Given the description of an element on the screen output the (x, y) to click on. 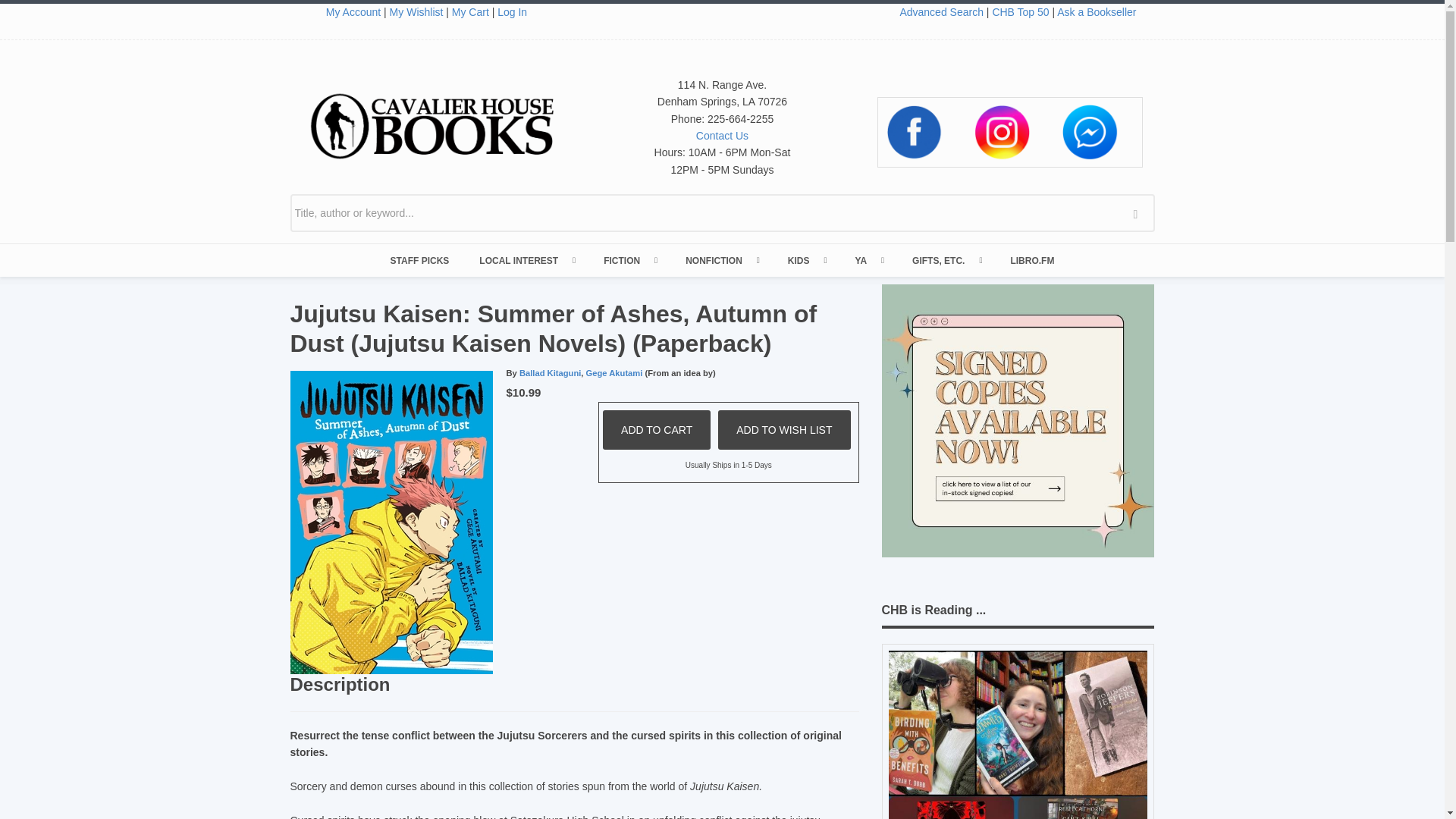
STAFF PICKS (419, 260)
Contact Us (721, 135)
LOCAL INTEREST (526, 260)
search (1139, 212)
YA (868, 260)
Add to Cart (656, 429)
CHB Top 50 (1019, 11)
Ask a Bookseller (1096, 11)
Log In (512, 11)
Advanced Search (941, 11)
FICTION (628, 260)
KIDS (806, 260)
My Account (353, 11)
Title, author or keyword... (721, 212)
